Given the description of an element on the screen output the (x, y) to click on. 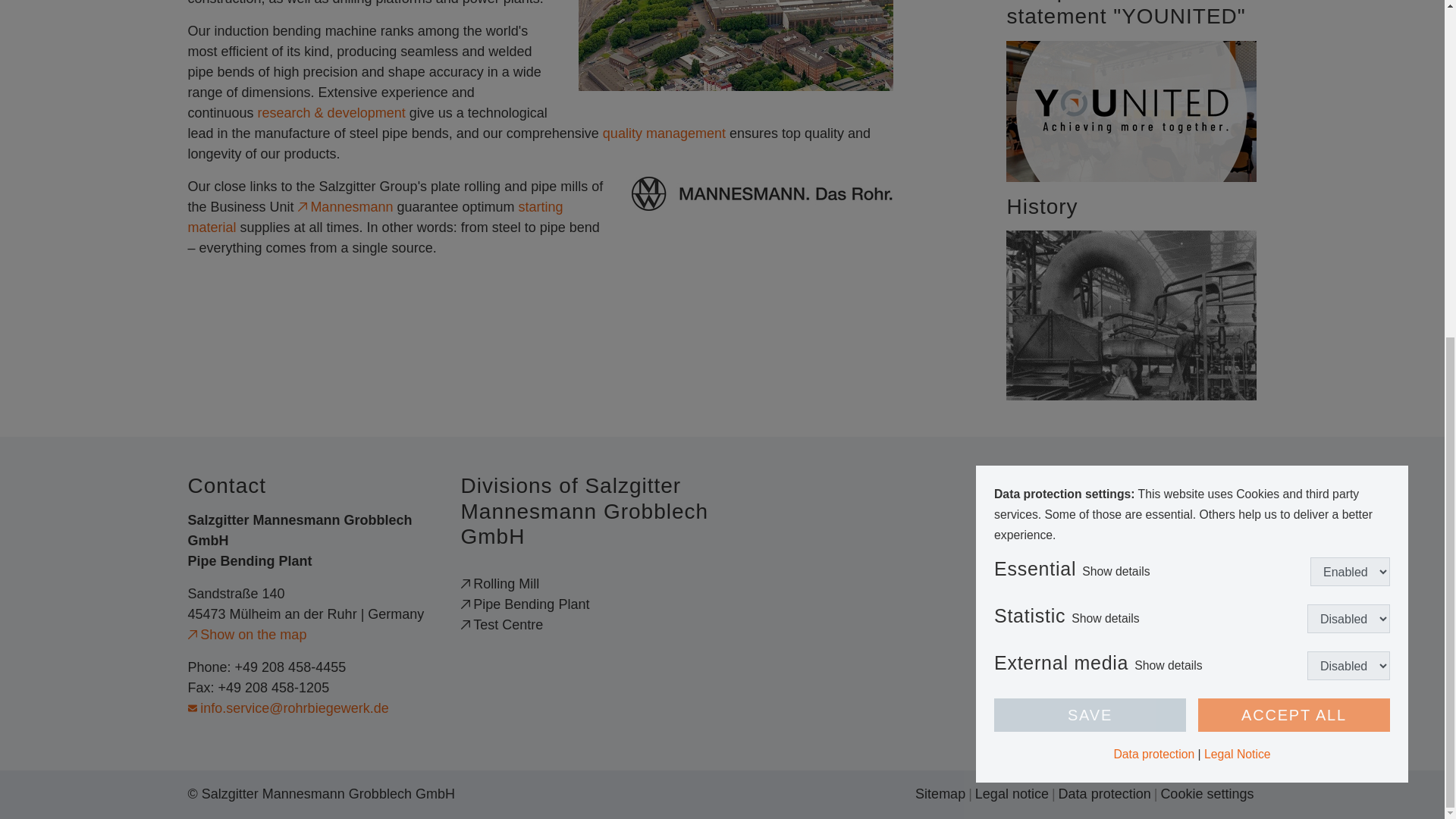
Group's mission statement "YOUNITED" (1131, 110)
Opens window for sending email (287, 708)
History (1131, 314)
Salzgitter Mannesmann Grobblech from above (735, 45)
Mannesmann. Das Rohr. (761, 193)
Group's mission statement "YOUNITED" (1131, 109)
Opens internal link in current window (331, 112)
History (1131, 315)
Opens internal link in current window (375, 217)
